Given the description of an element on the screen output the (x, y) to click on. 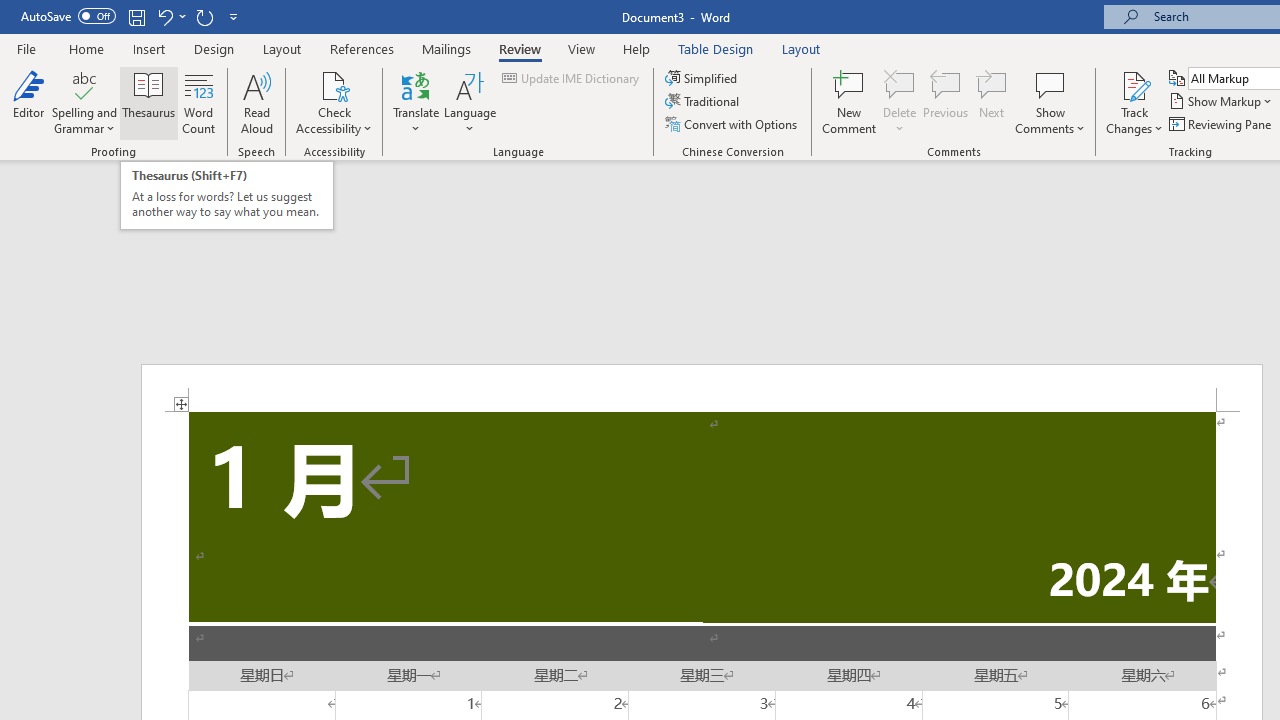
Show Markup (1222, 101)
Spelling and Grammar (84, 84)
